Given the description of an element on the screen output the (x, y) to click on. 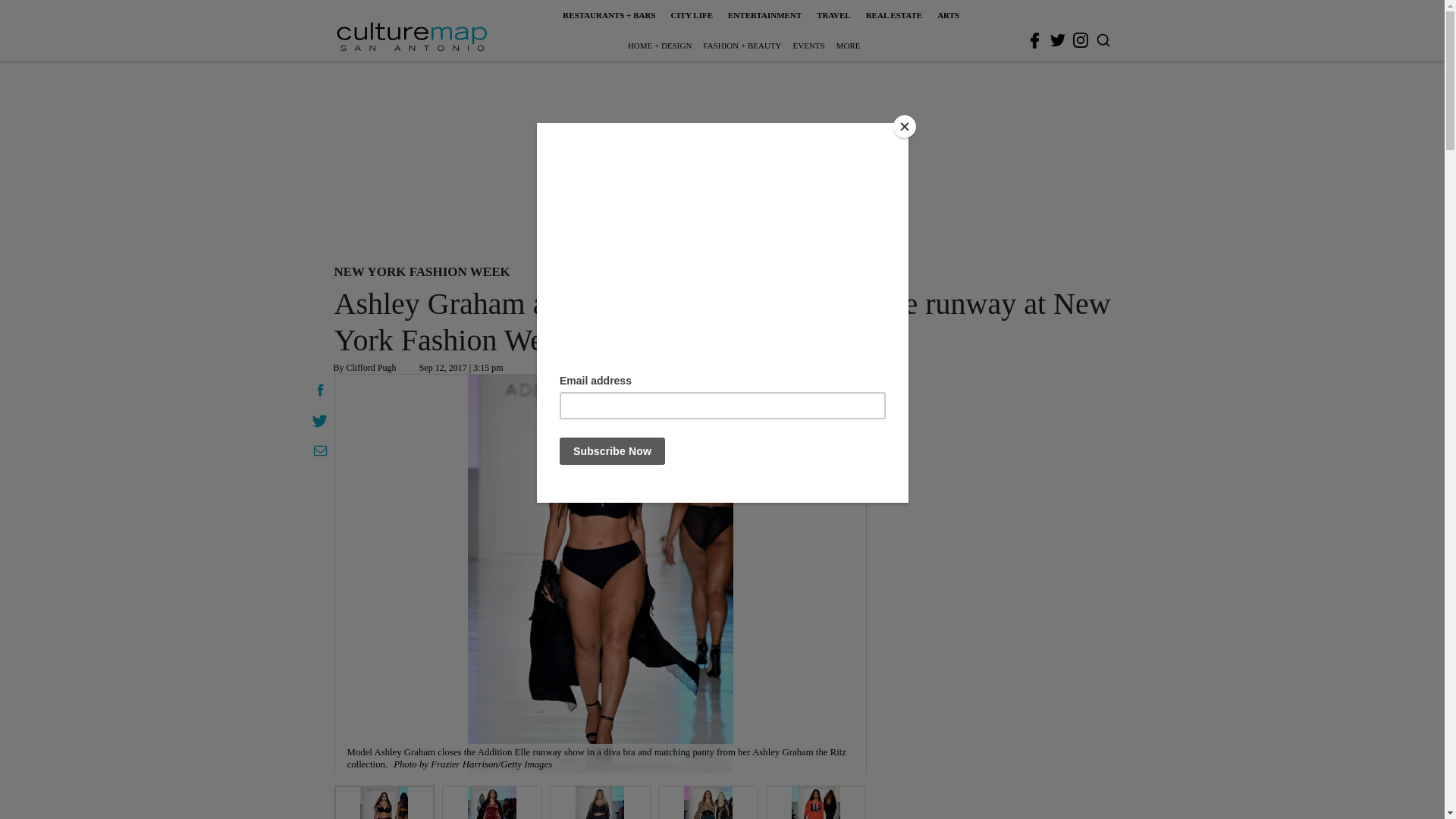
3rd party ad content (721, 160)
